Given the description of an element on the screen output the (x, y) to click on. 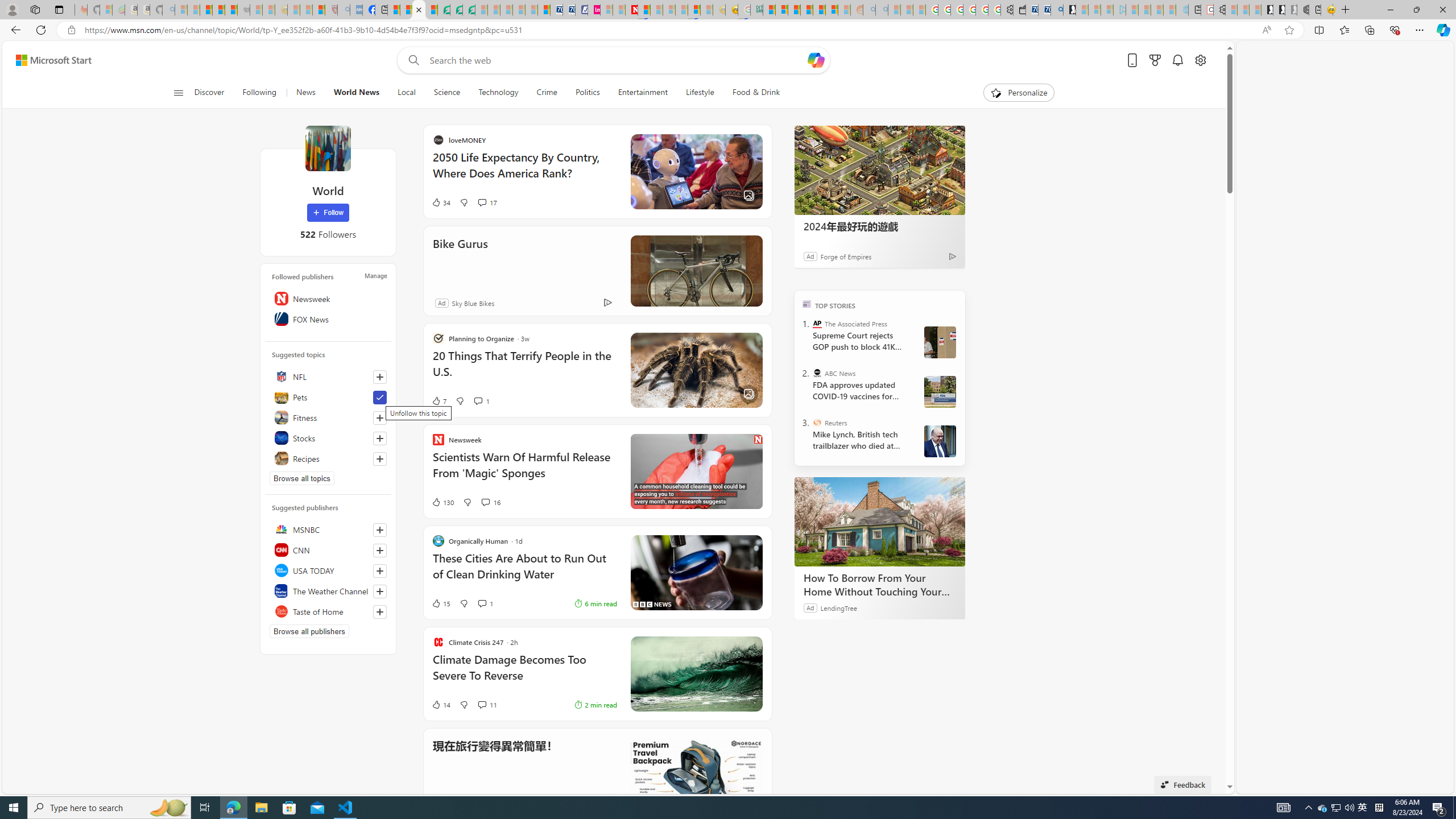
The Associated Press (816, 323)
View comments 17 Comment (596, 202)
Microsoft Word - consumer-privacy address update 2.2021 (468, 9)
Sky Blue Bikes (583, 302)
Local - MSN (318, 9)
